Given the description of an element on the screen output the (x, y) to click on. 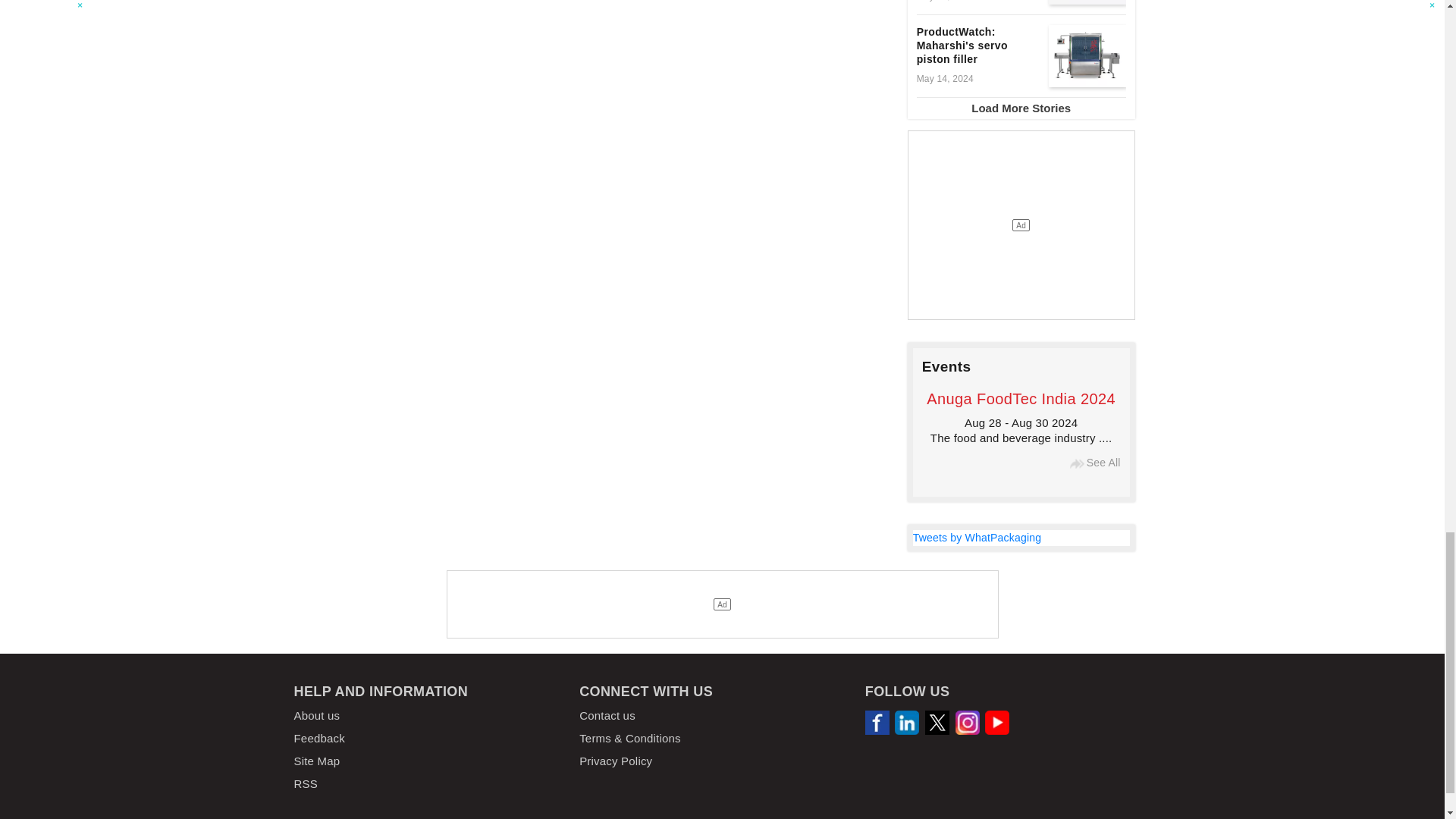
ProductWatch: Maharshi's servo piston filler (1086, 55)
ProductWatch: Shandilya Sons' Dotclean plate cleaner (1086, 2)
See All (1077, 463)
